Given the description of an element on the screen output the (x, y) to click on. 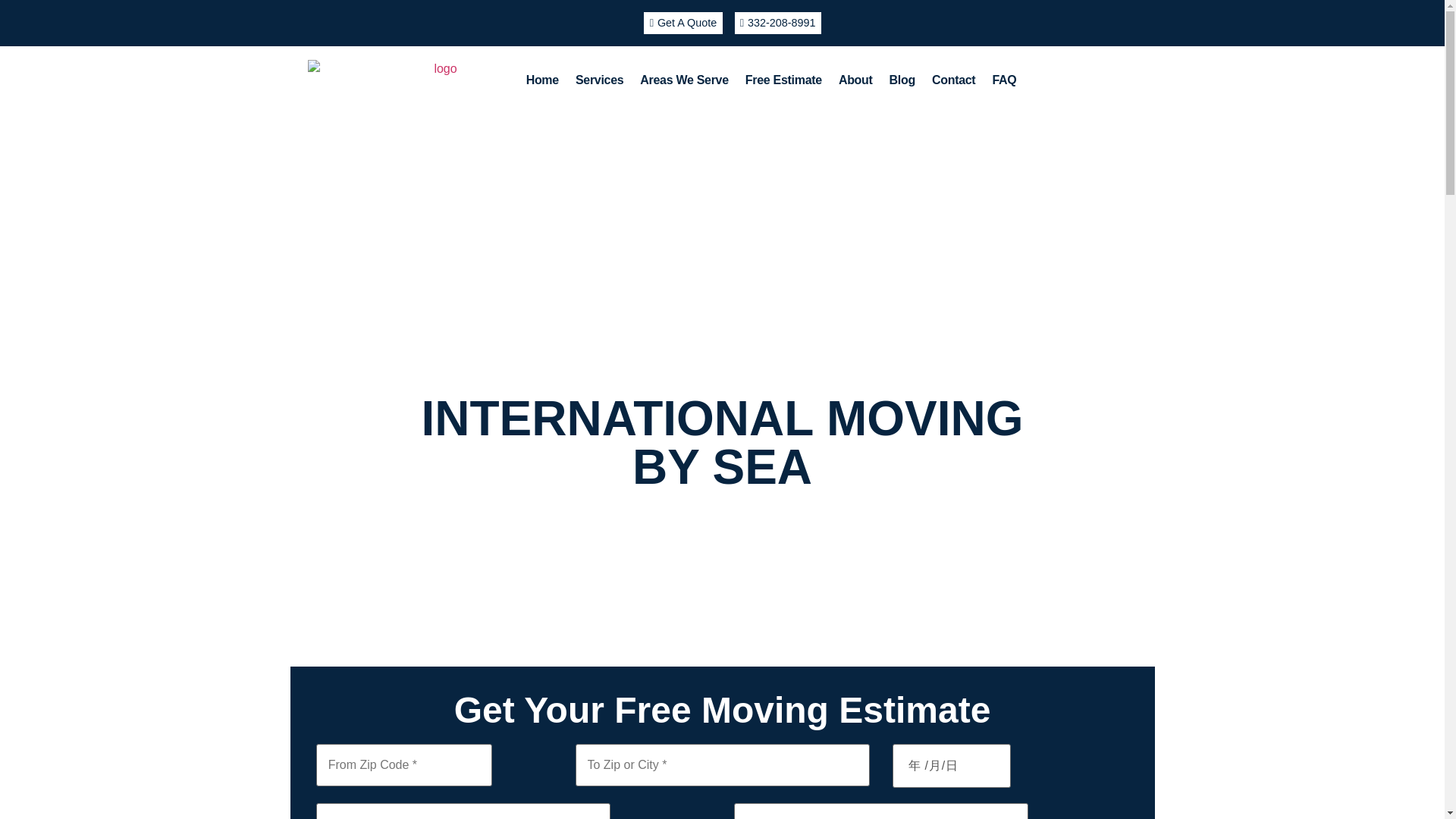
Blog (901, 79)
FAQ (1004, 79)
Services (599, 79)
Home (542, 79)
Areas We Serve (683, 79)
Get A Quote (682, 23)
Contact (953, 79)
About (854, 79)
Free Estimate (782, 79)
332-208-8991 (777, 23)
